Given the description of an element on the screen output the (x, y) to click on. 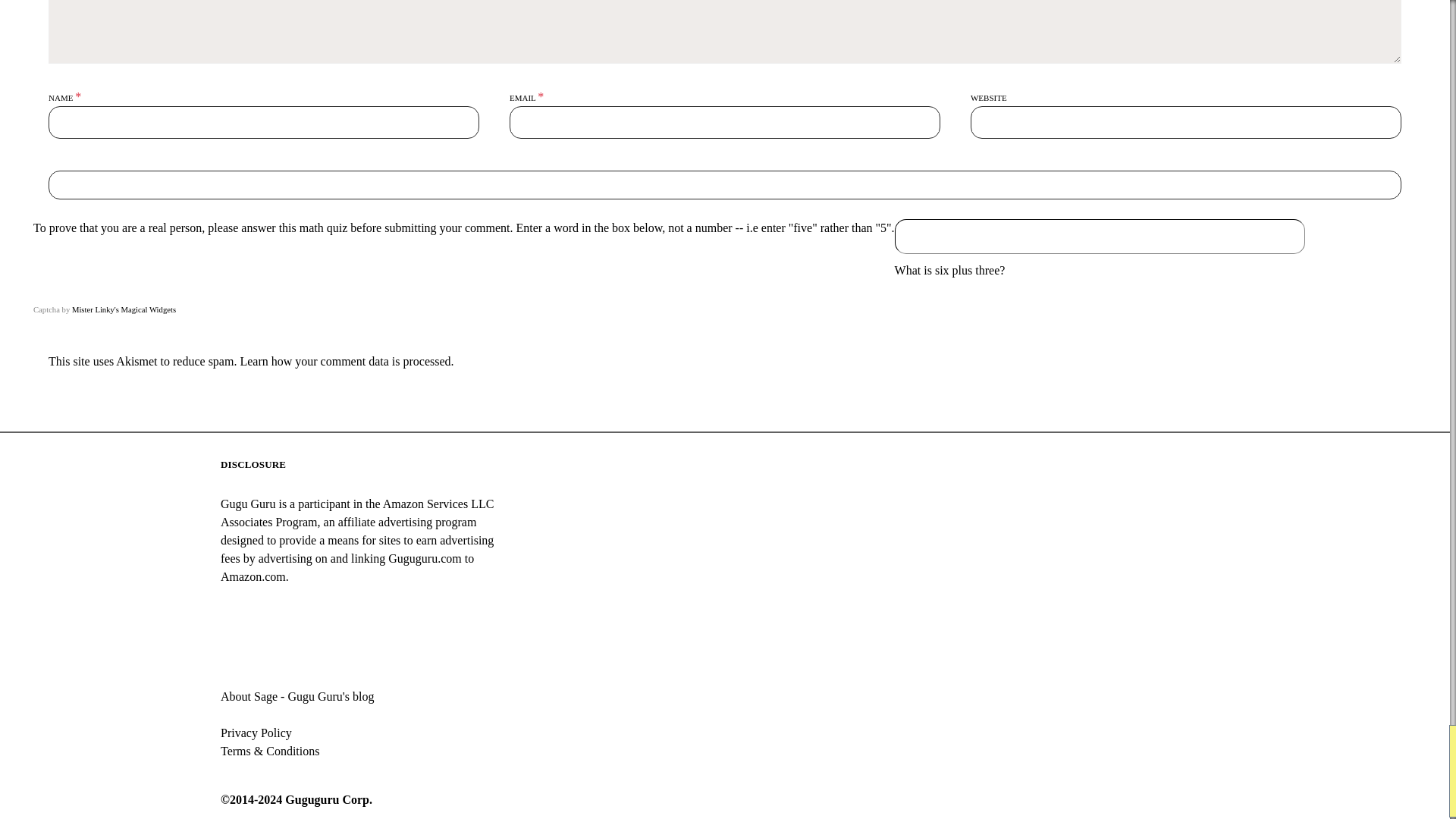
Post Comment (724, 184)
